Given the description of an element on the screen output the (x, y) to click on. 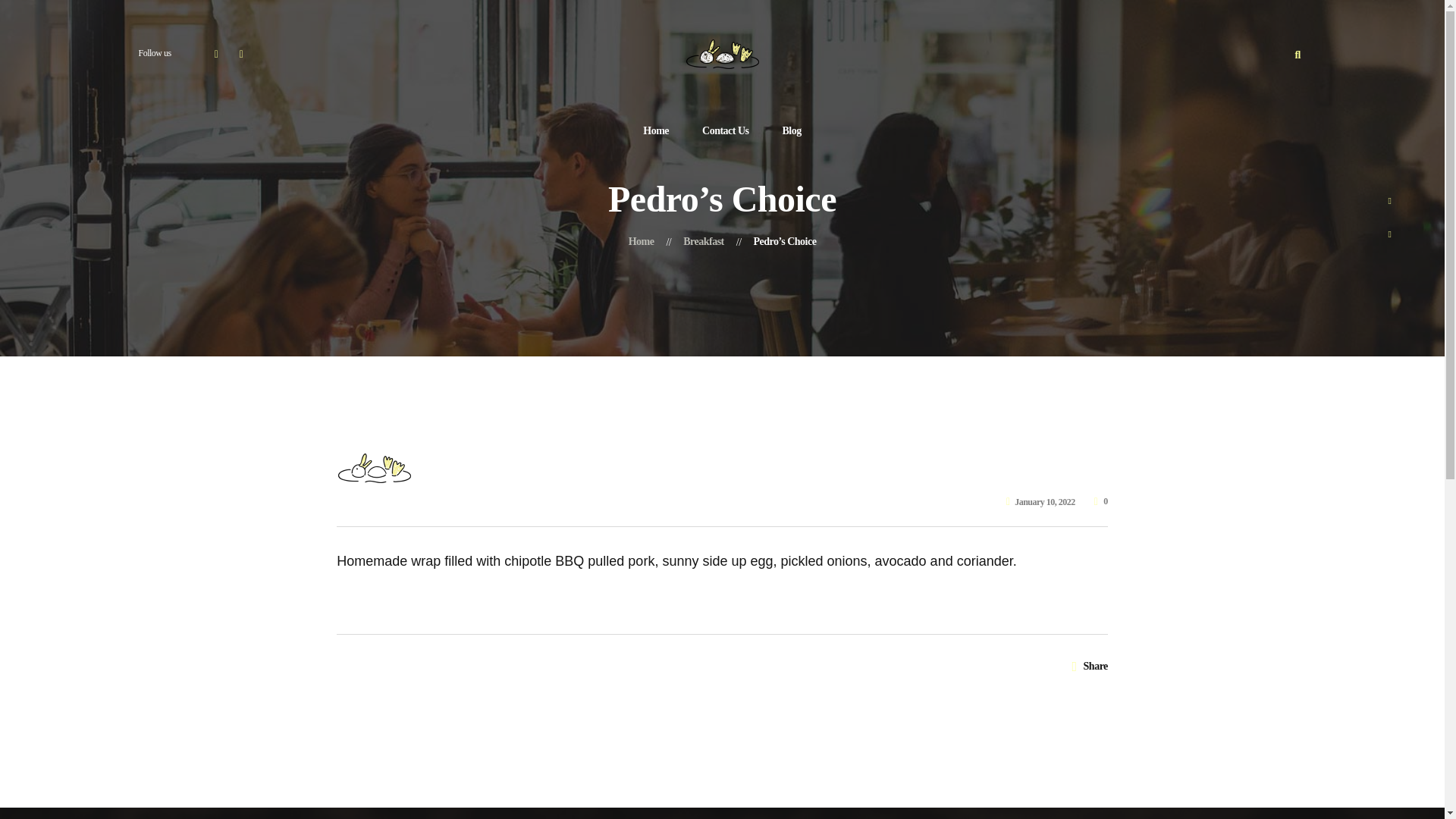
Go to the Breakfast Category archives. (702, 241)
Go to Home. (640, 241)
January 10, 2022 (1040, 501)
Contact Us (725, 131)
Home (640, 241)
Home (655, 131)
Blog (791, 131)
Breakfast (702, 241)
